Given the description of an element on the screen output the (x, y) to click on. 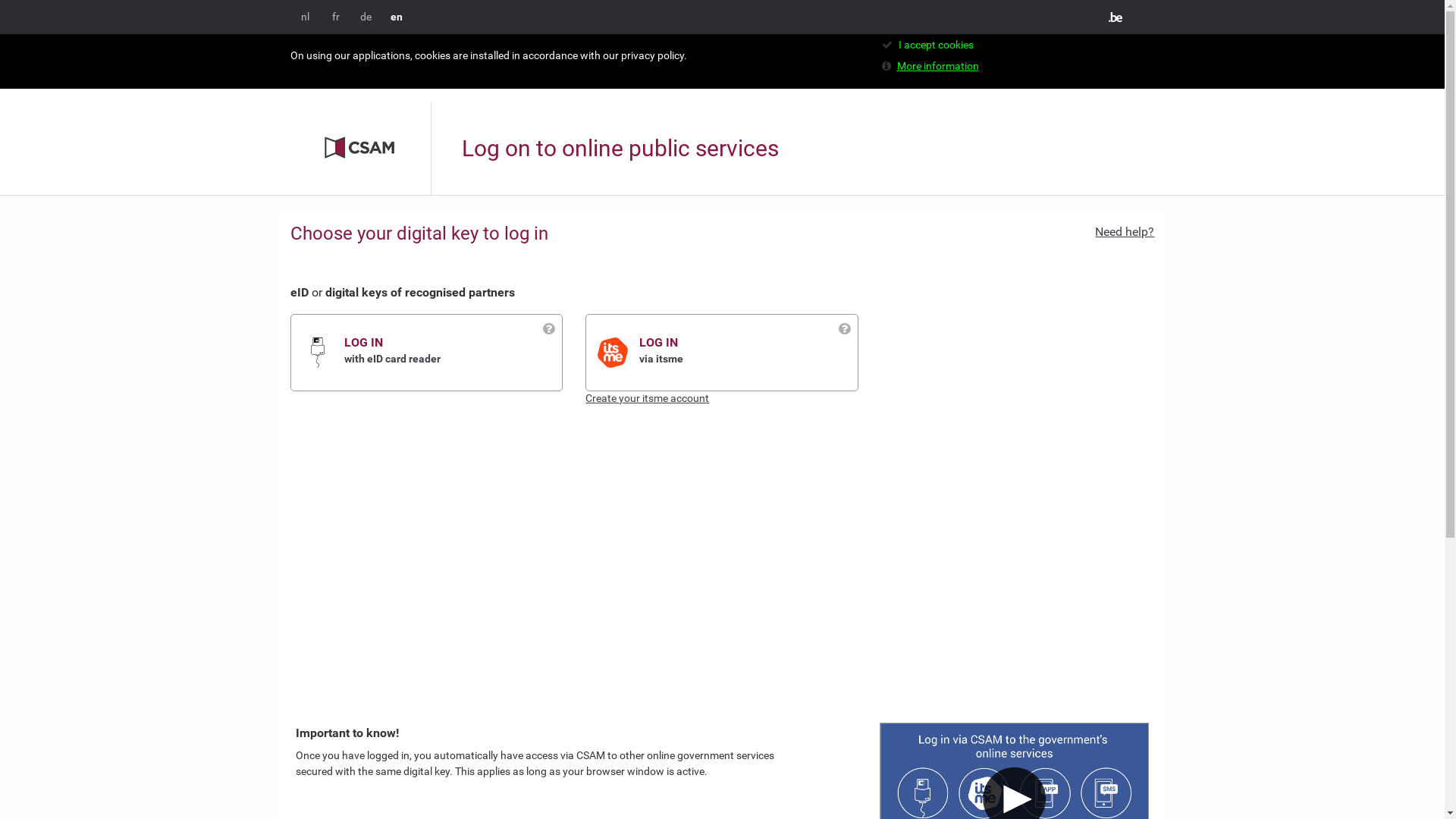
LOG IN
with eID card reader Element type: text (453, 351)
LOG IN
via itsme Element type: text (748, 351)
More information Element type: text (932, 65)
I accept cookies Element type: text (928, 44)
en Element type: text (395, 17)
de Element type: text (365, 17)
fr Element type: text (335, 17)
nl Element type: text (305, 17)
Need help? Element type: text (1124, 231)
Create your itsme account Element type: text (647, 398)
